Given the description of an element on the screen output the (x, y) to click on. 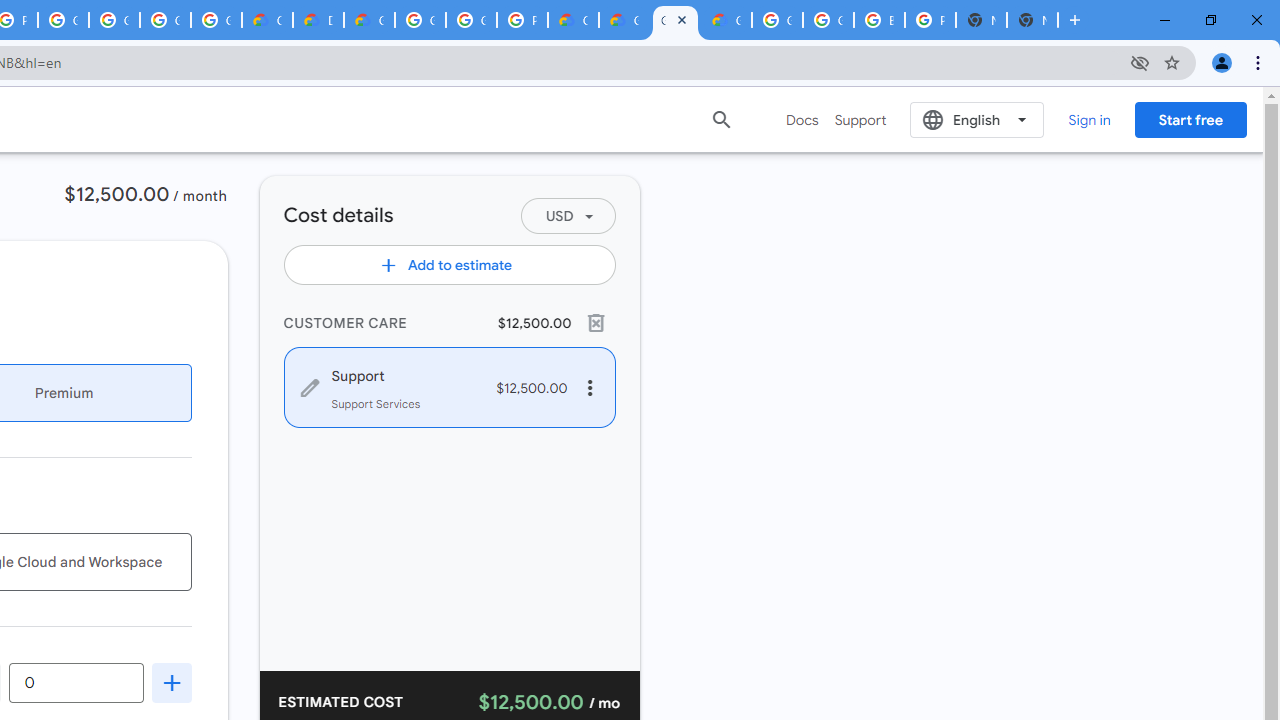
Google Workspace - Specific Terms (164, 20)
Google Cloud monthly charges* tooltip (76, 682)
Increment (171, 682)
Open currency selector (567, 216)
New Tab (1032, 20)
Support (860, 119)
